Given the description of an element on the screen output the (x, y) to click on. 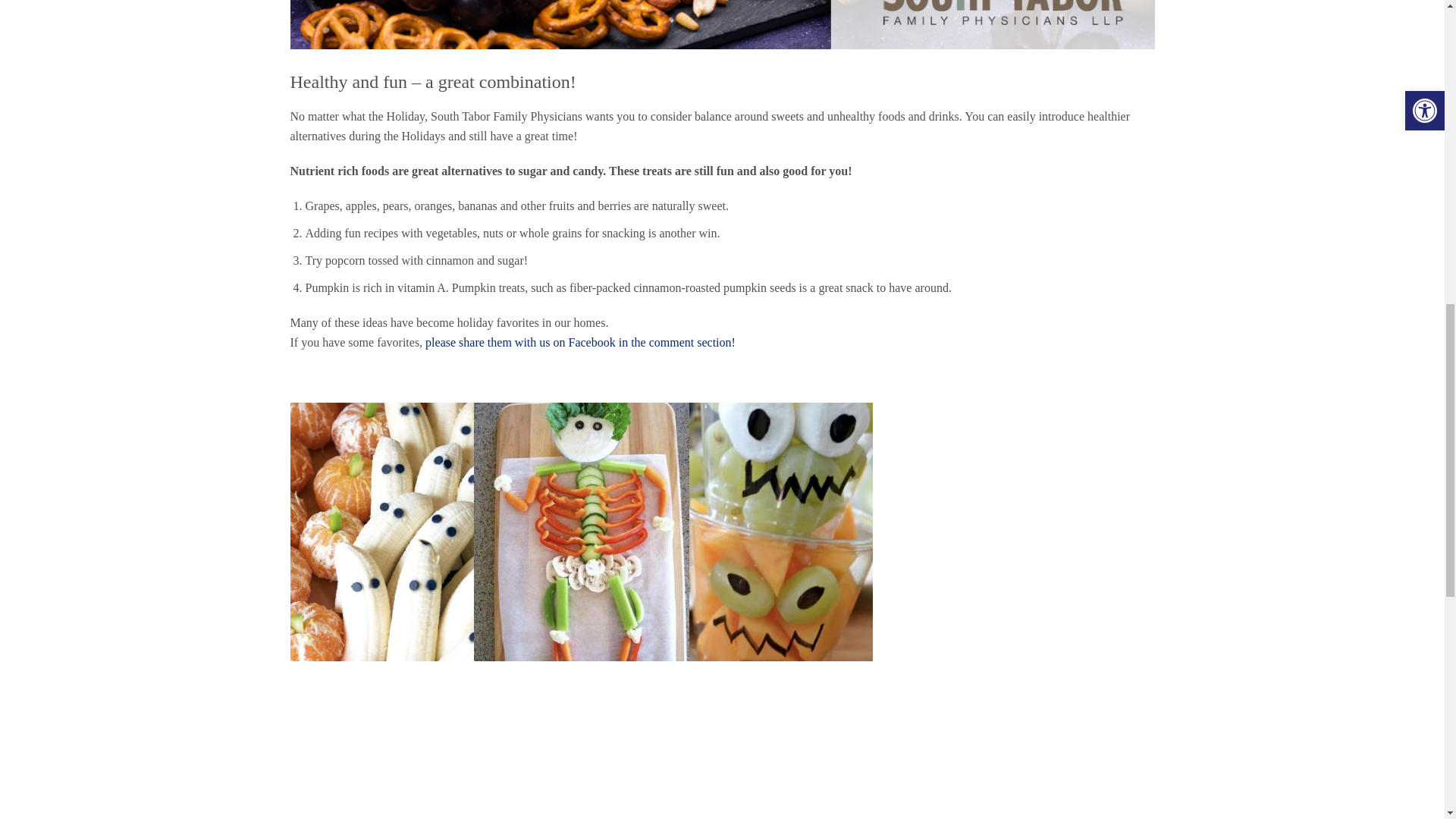
YouTube video player (501, 765)
